Given the description of an element on the screen output the (x, y) to click on. 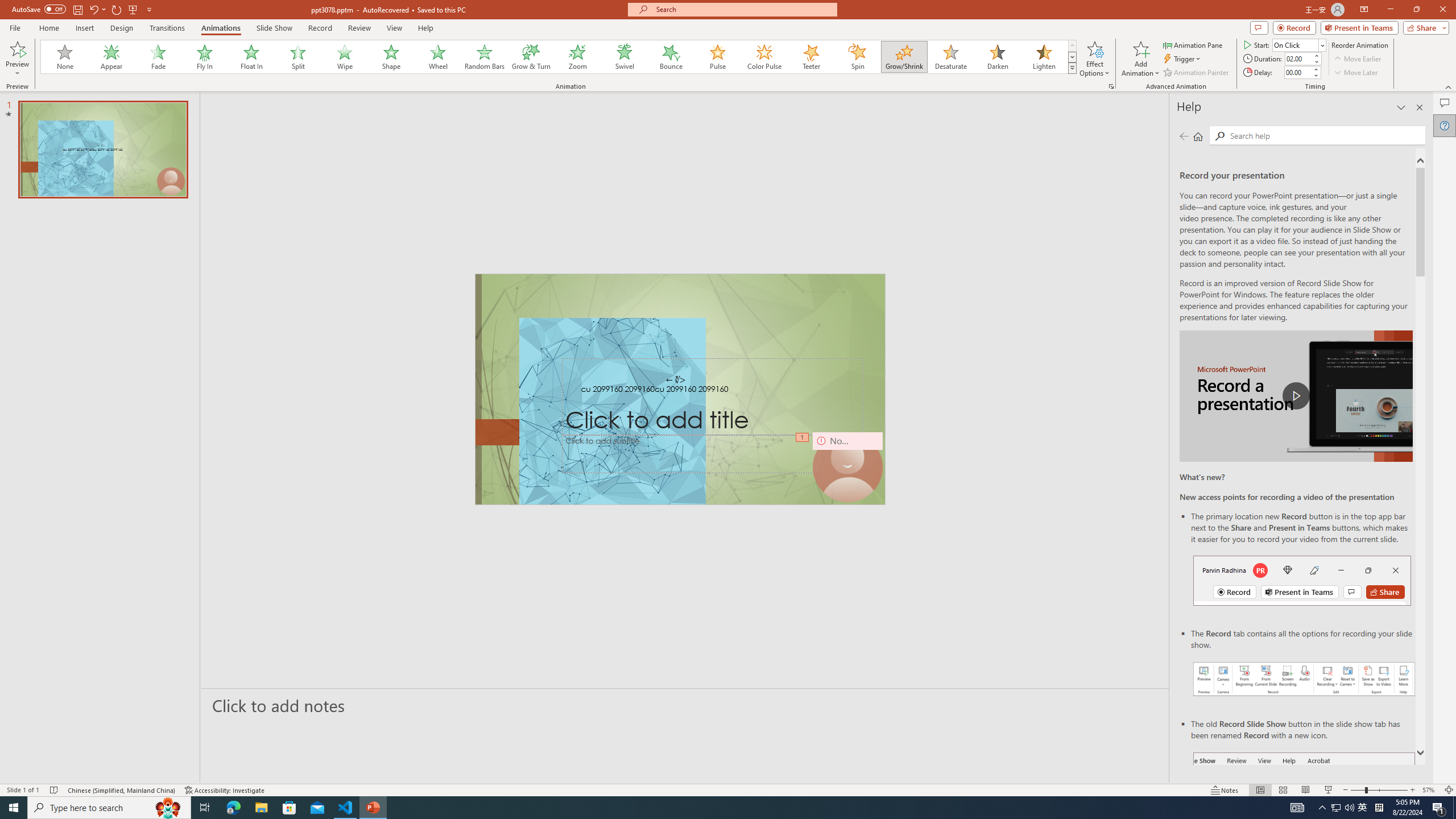
Effect Options (1094, 58)
Shape (391, 56)
Grow/Shrink (903, 56)
AutomationID: AnimationGallery (558, 56)
Wheel (437, 56)
Fade (158, 56)
